Given the description of an element on the screen output the (x, y) to click on. 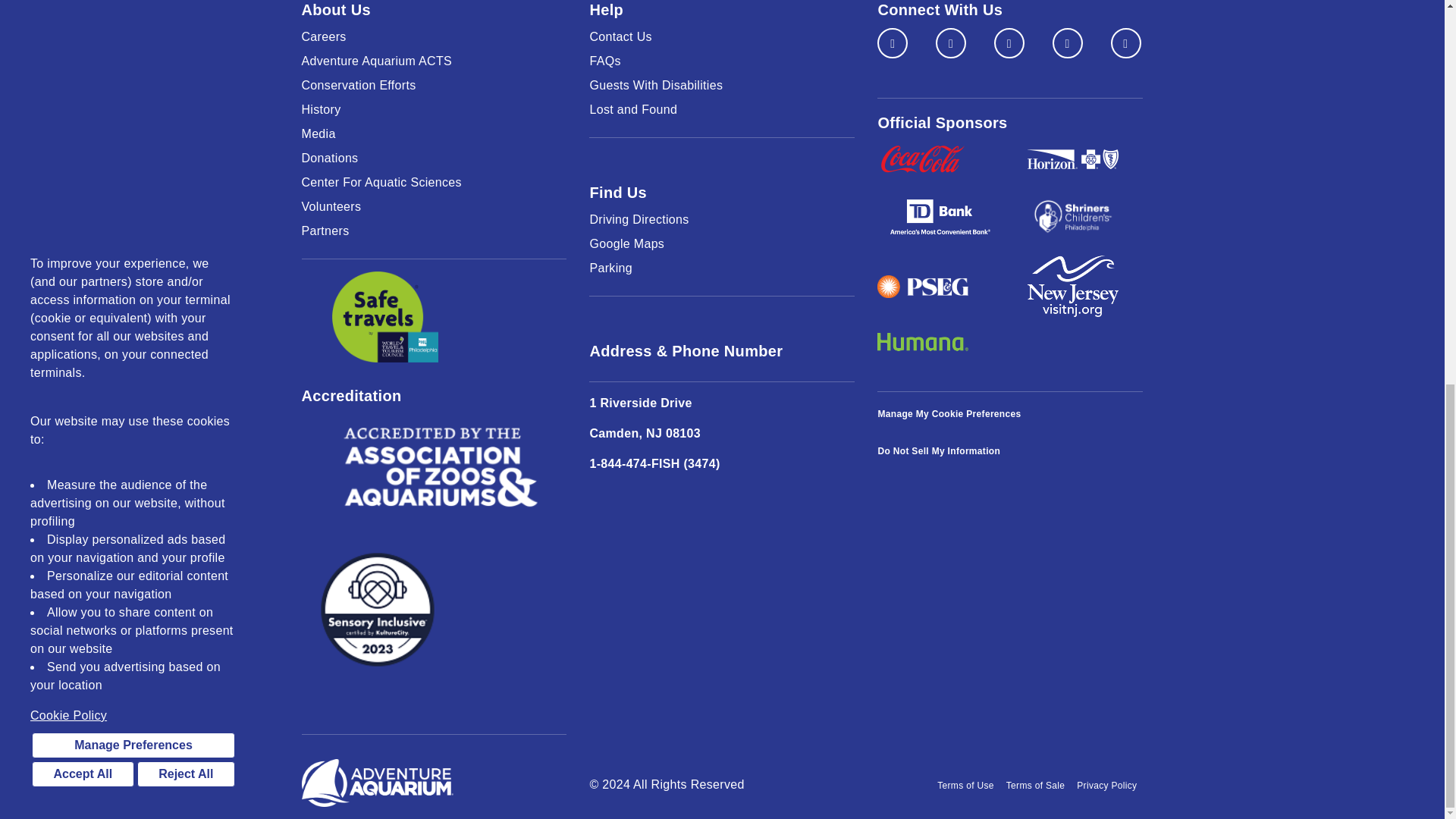
Adventure Aquarium History (434, 109)
Reject All (185, 53)
Cookie Policy (132, 2)
Lost and Found (721, 109)
Manage Preferences (133, 23)
ACTS (434, 61)
Conservation (434, 85)
Accept All (82, 53)
